Given the description of an element on the screen output the (x, y) to click on. 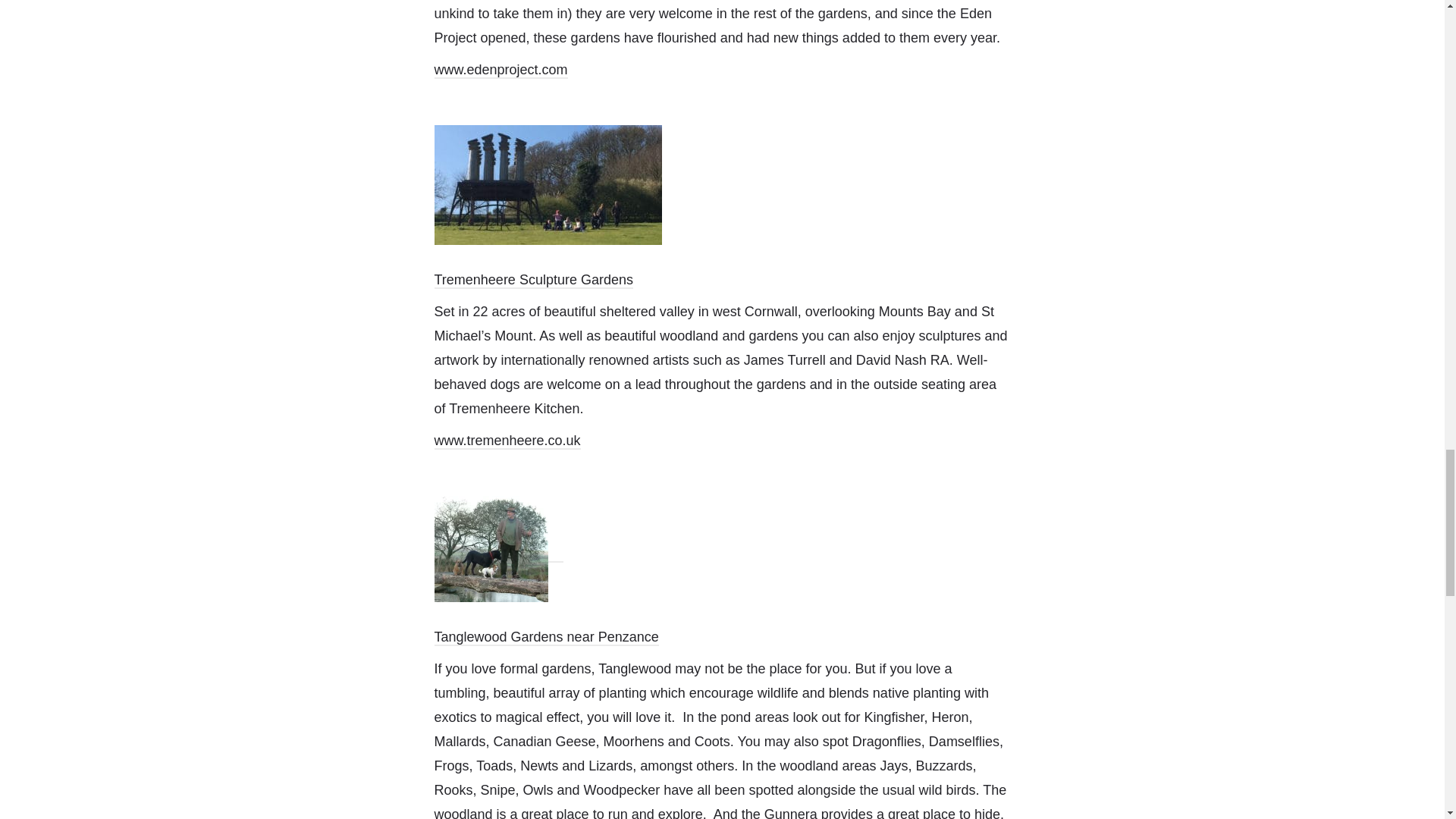
Tremenheere Sculpture Gardens (532, 280)
www.edenproject.com (500, 70)
